Given the description of an element on the screen output the (x, y) to click on. 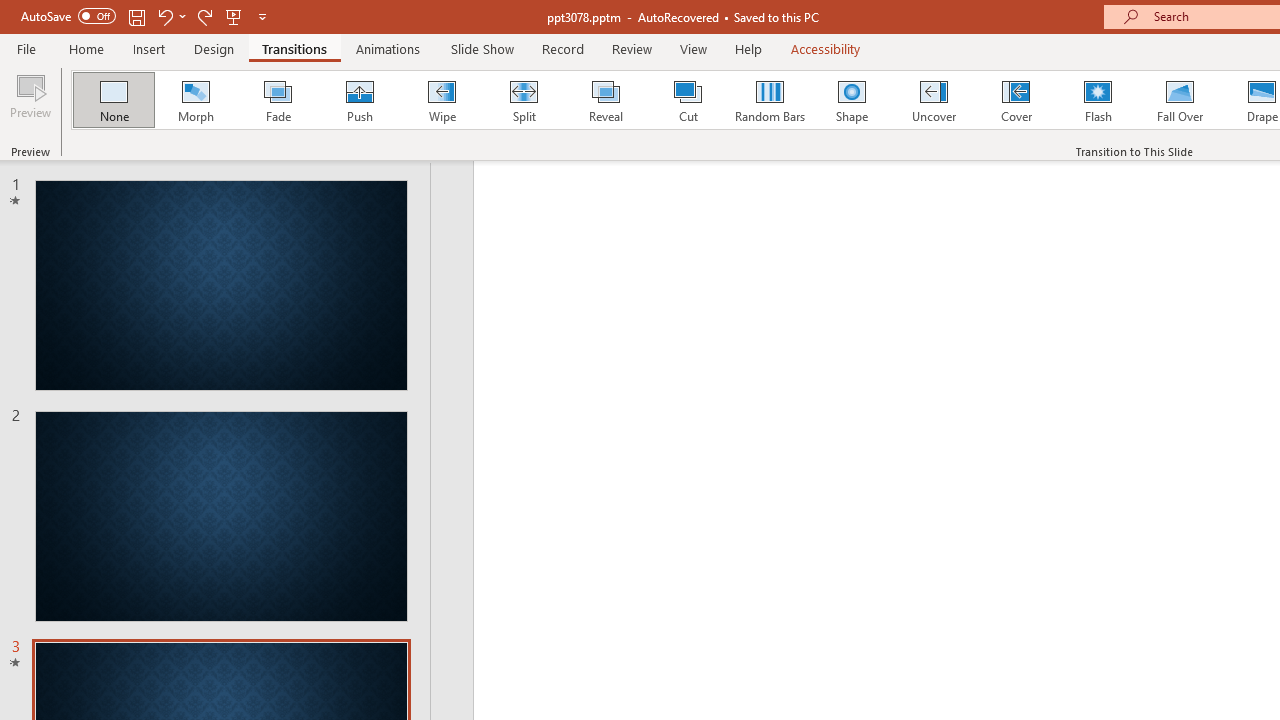
Uncover (934, 100)
Fade (277, 100)
Cover (1016, 100)
Reveal (605, 100)
